Given the description of an element on the screen output the (x, y) to click on. 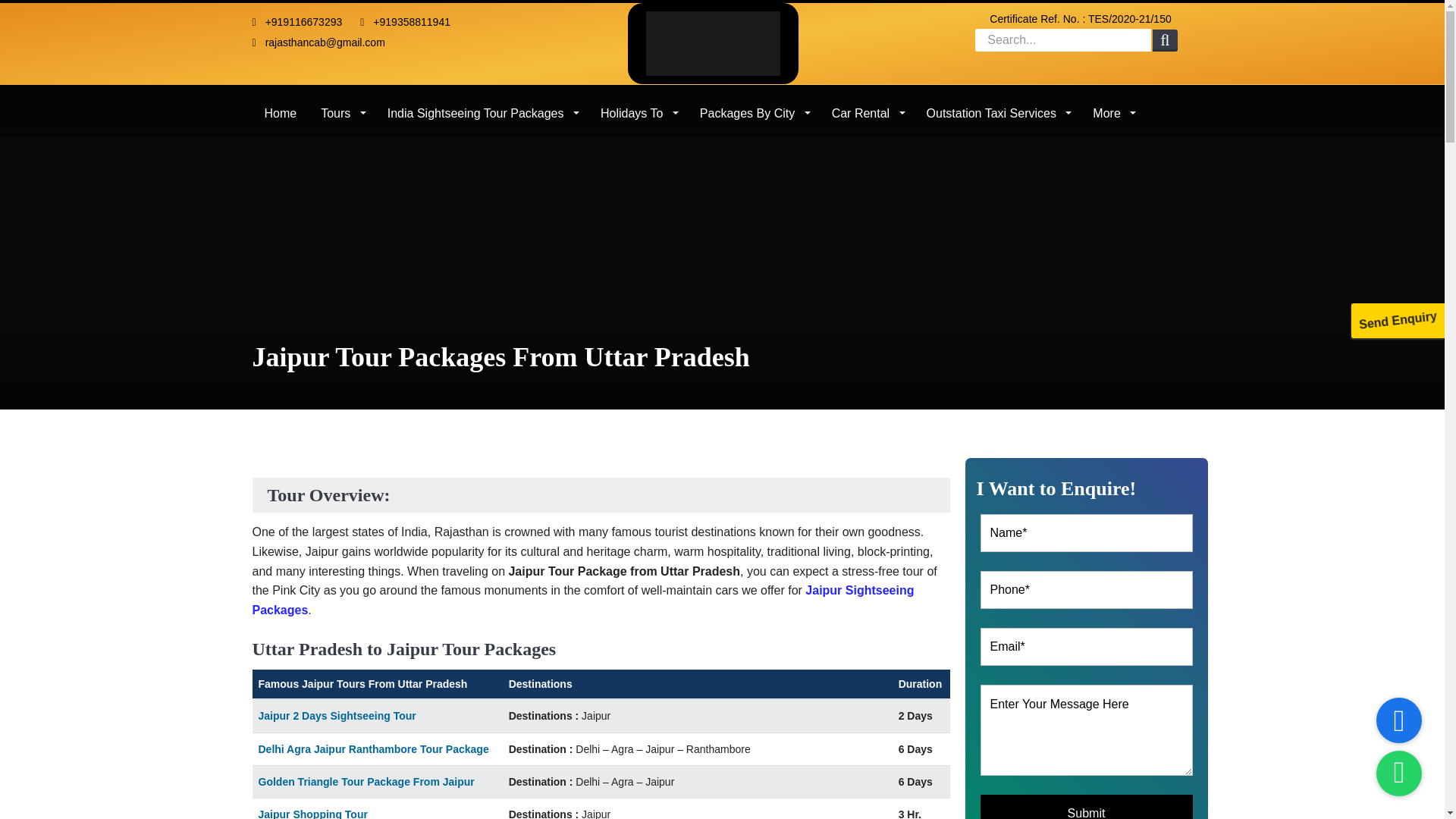
India Sightseeing Tour Packages (481, 108)
Search for: (1063, 39)
Submit (1085, 806)
Tours (341, 108)
Home (279, 108)
Holidays To (637, 108)
Search (1164, 40)
